Given the description of an element on the screen output the (x, y) to click on. 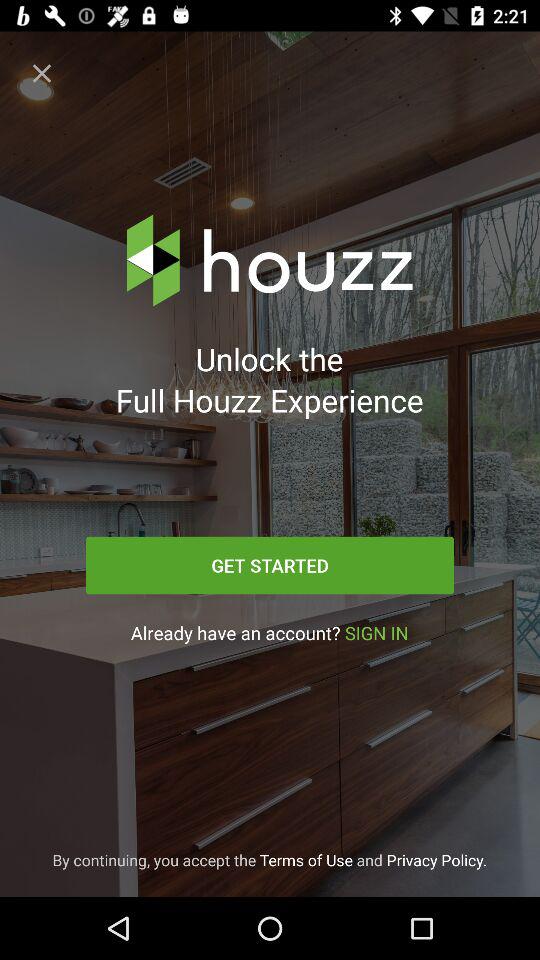
flip to the by continuing you (269, 859)
